Given the description of an element on the screen output the (x, y) to click on. 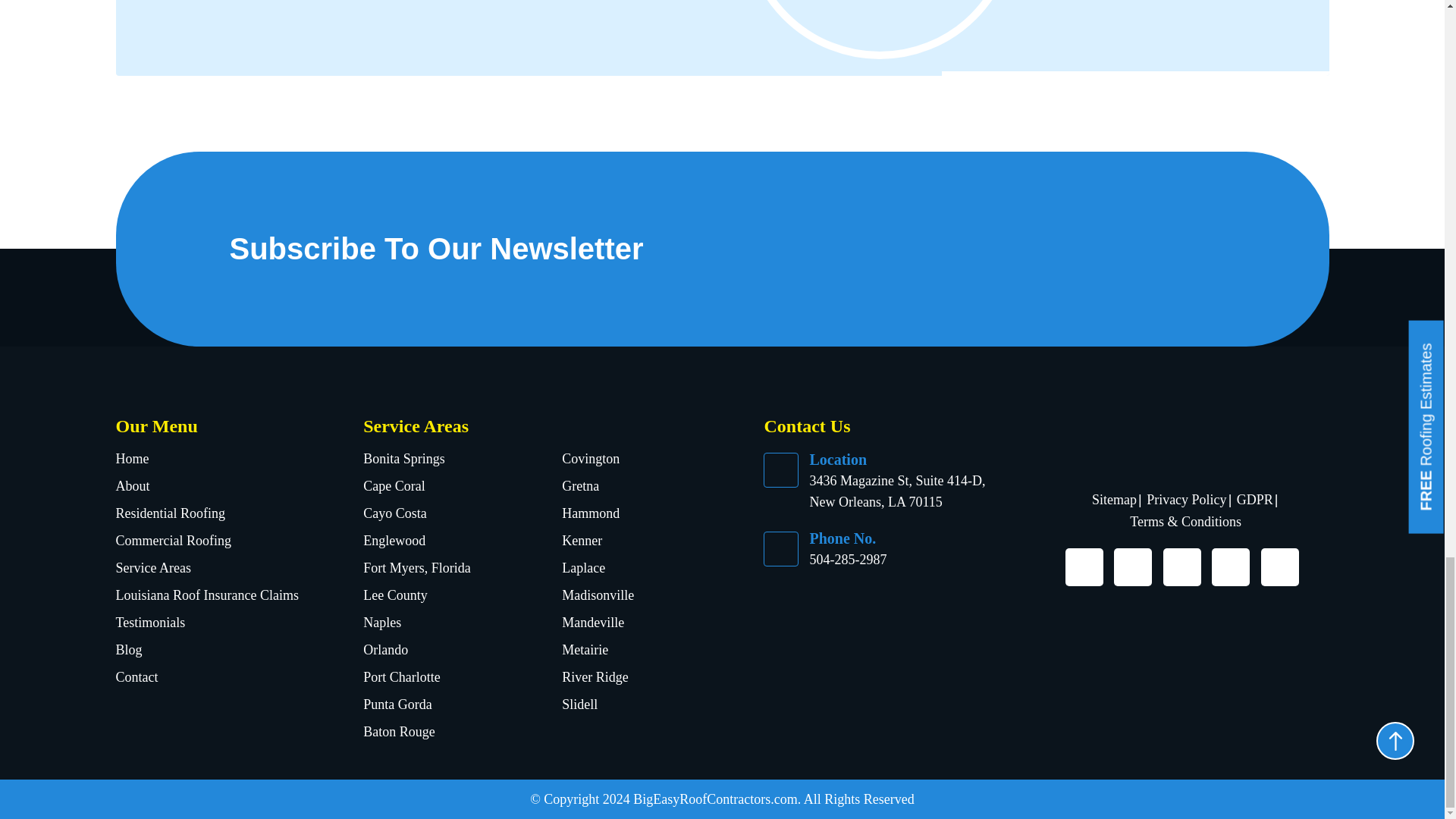
residential roof repairs by big easy roof contractors (1085, 38)
consultation-img-2 (880, 25)
Newsletter (1012, 246)
footer-logo (1186, 440)
